Given the description of an element on the screen output the (x, y) to click on. 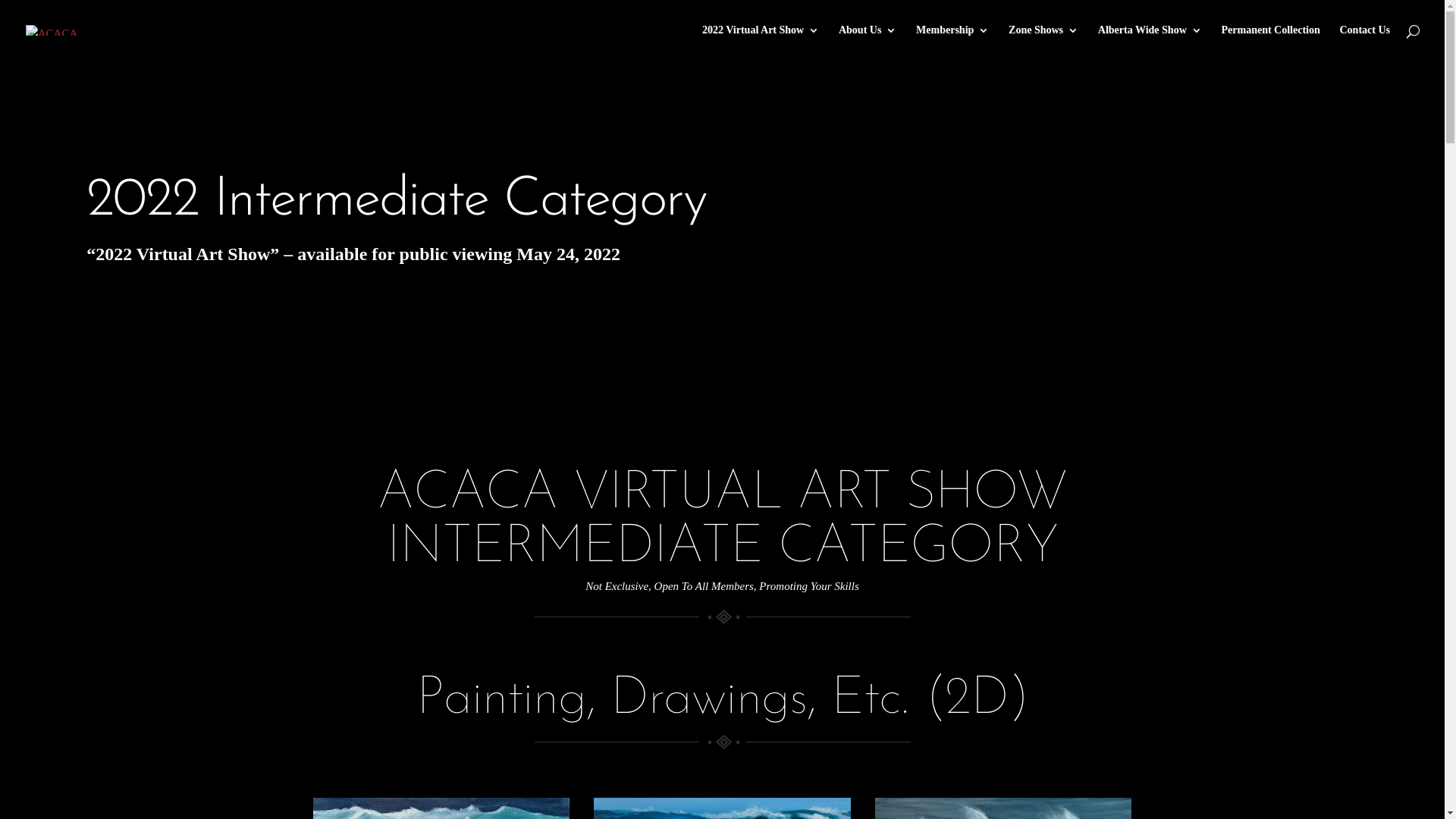
About Us Element type: text (867, 42)
2022 Virtual Art Show Element type: text (760, 42)
Membership Element type: text (952, 42)
Alberta Wide Show Element type: text (1149, 42)
Contact Us Element type: text (1364, 42)
Zone Shows Element type: text (1043, 42)
Permanent Collection Element type: text (1269, 42)
